Given the description of an element on the screen output the (x, y) to click on. 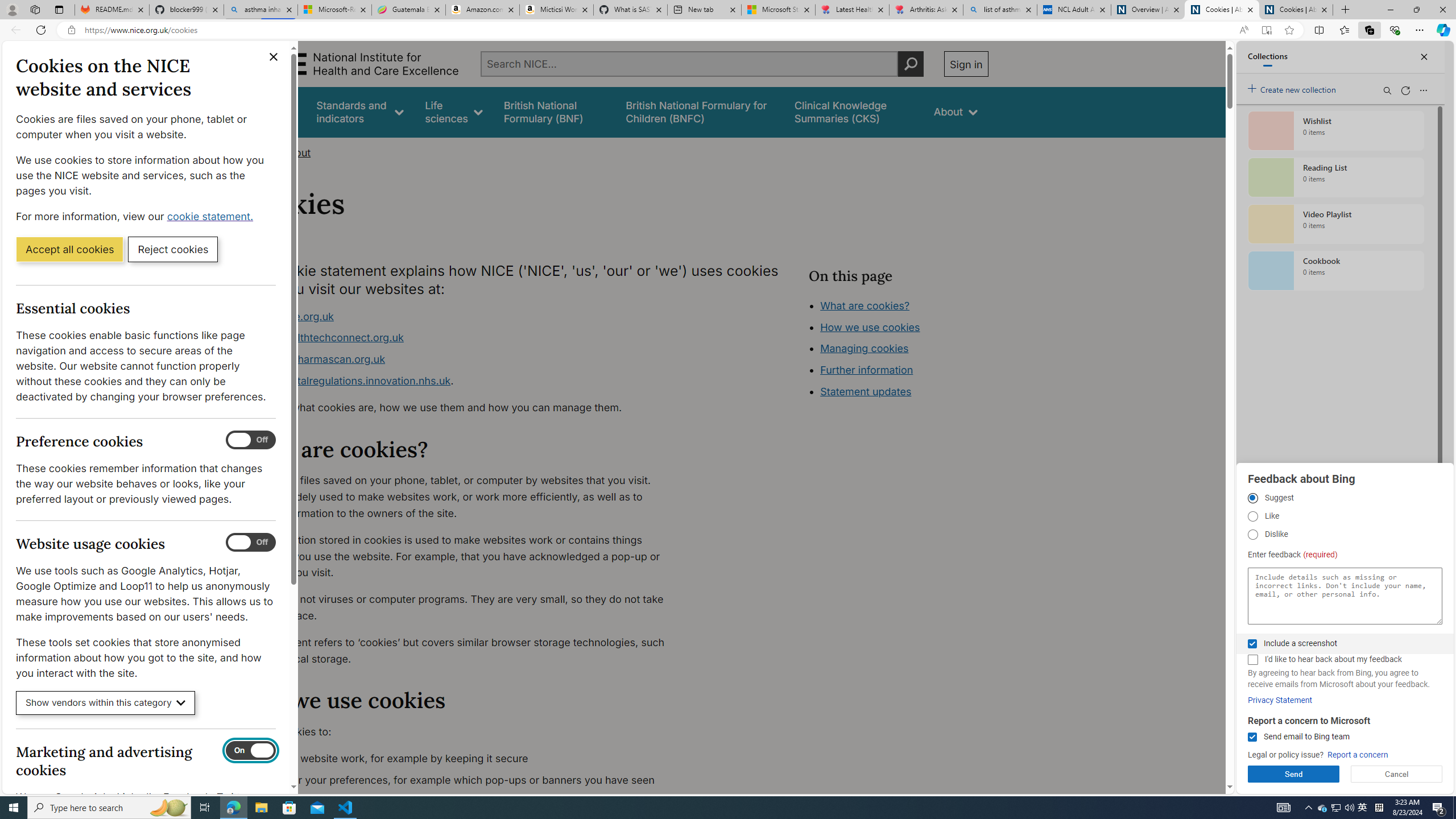
Home> (258, 152)
www.ukpharmascan.org.uk (464, 359)
cookie statement. (Opens in a new window) (211, 215)
asthma inhaler - Search (260, 9)
Managing cookies (863, 348)
